Given the description of an element on the screen output the (x, y) to click on. 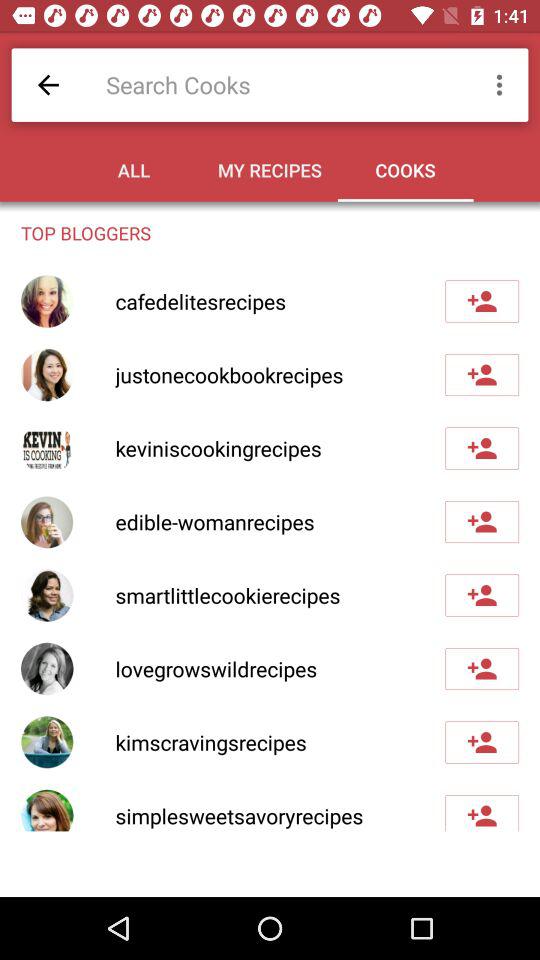
add friend (482, 448)
